Given the description of an element on the screen output the (x, y) to click on. 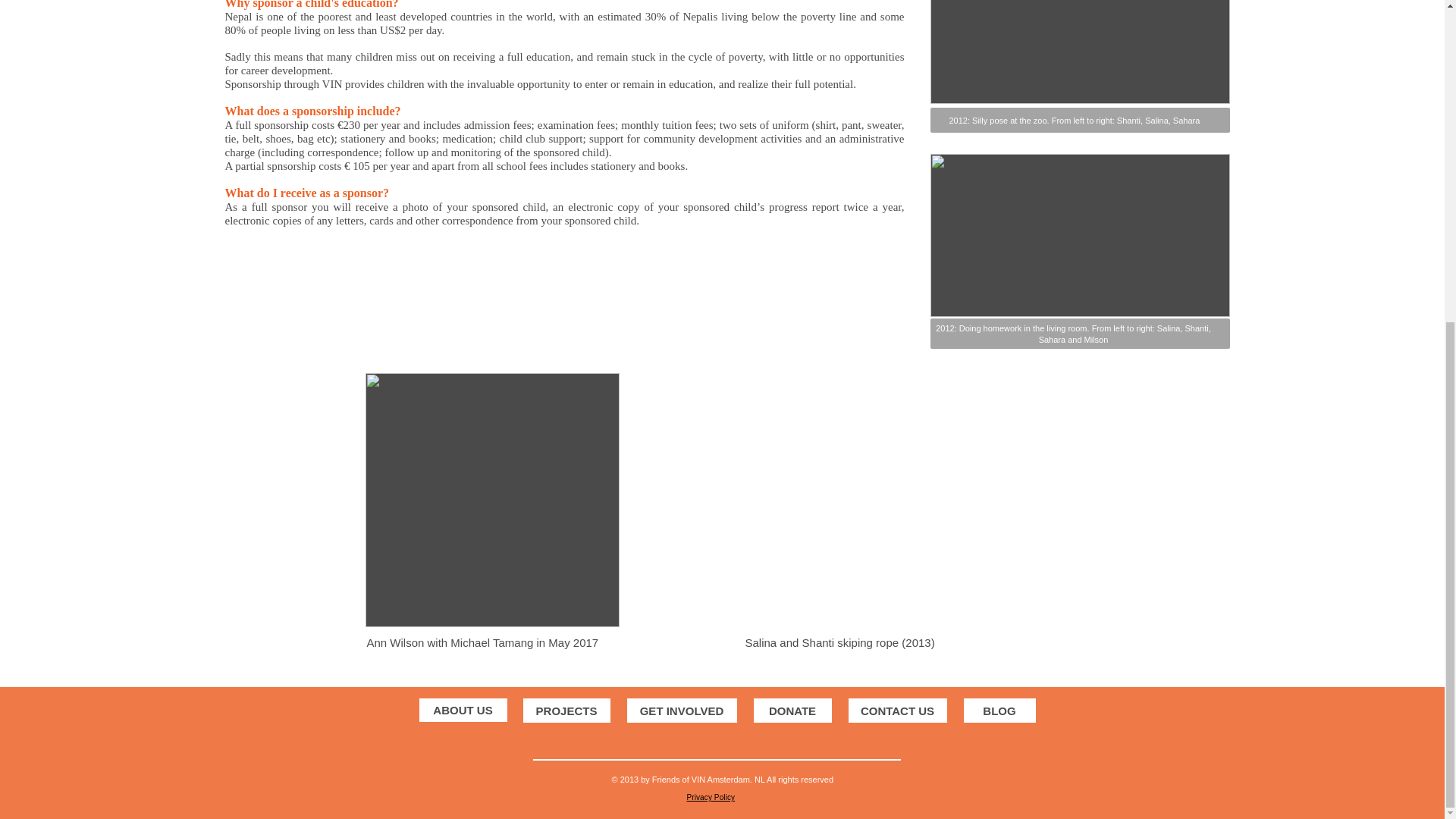
ABOUT US (462, 709)
PROJECTS (566, 710)
External YouTube (866, 505)
GET INVOLVED (681, 710)
Doing homework (1079, 234)
CONTACT US (896, 710)
At the zoo (1079, 52)
DONATE (792, 710)
